Given the description of an element on the screen output the (x, y) to click on. 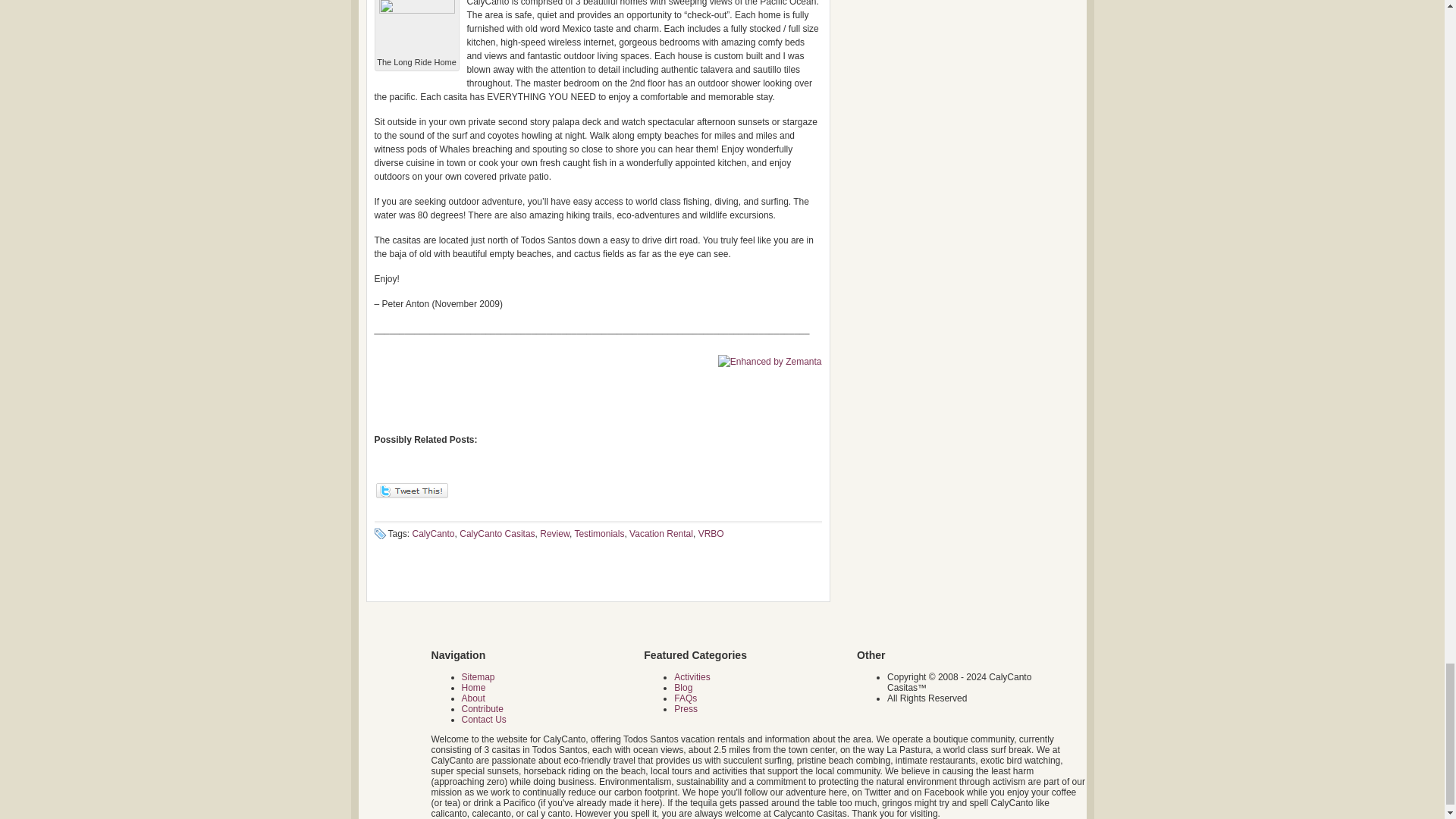
051009-0341-activities7.jpg (416, 27)
Post to Twitter (411, 494)
